Given the description of an element on the screen output the (x, y) to click on. 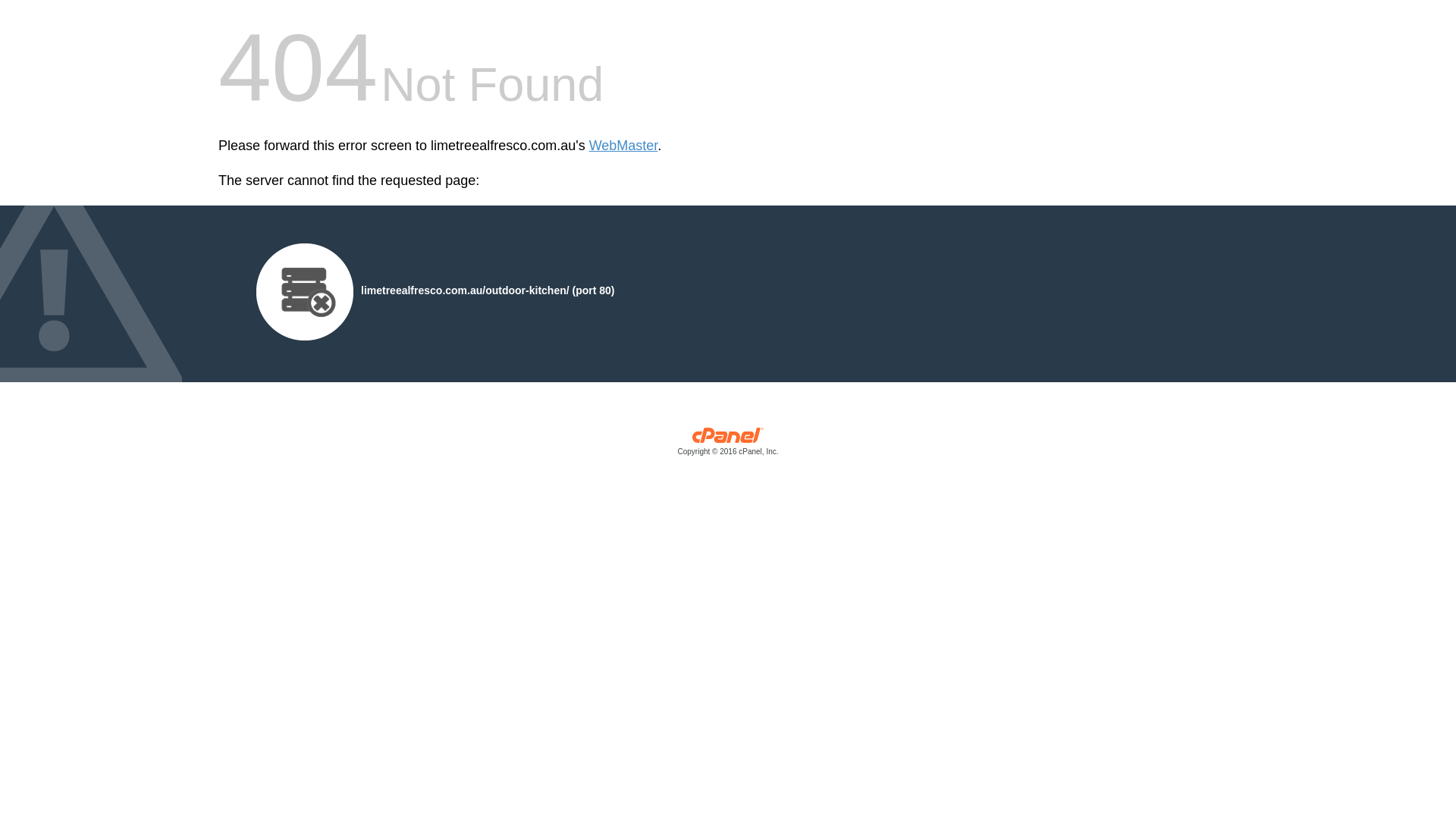
WebMaster Element type: text (623, 145)
